Given the description of an element on the screen output the (x, y) to click on. 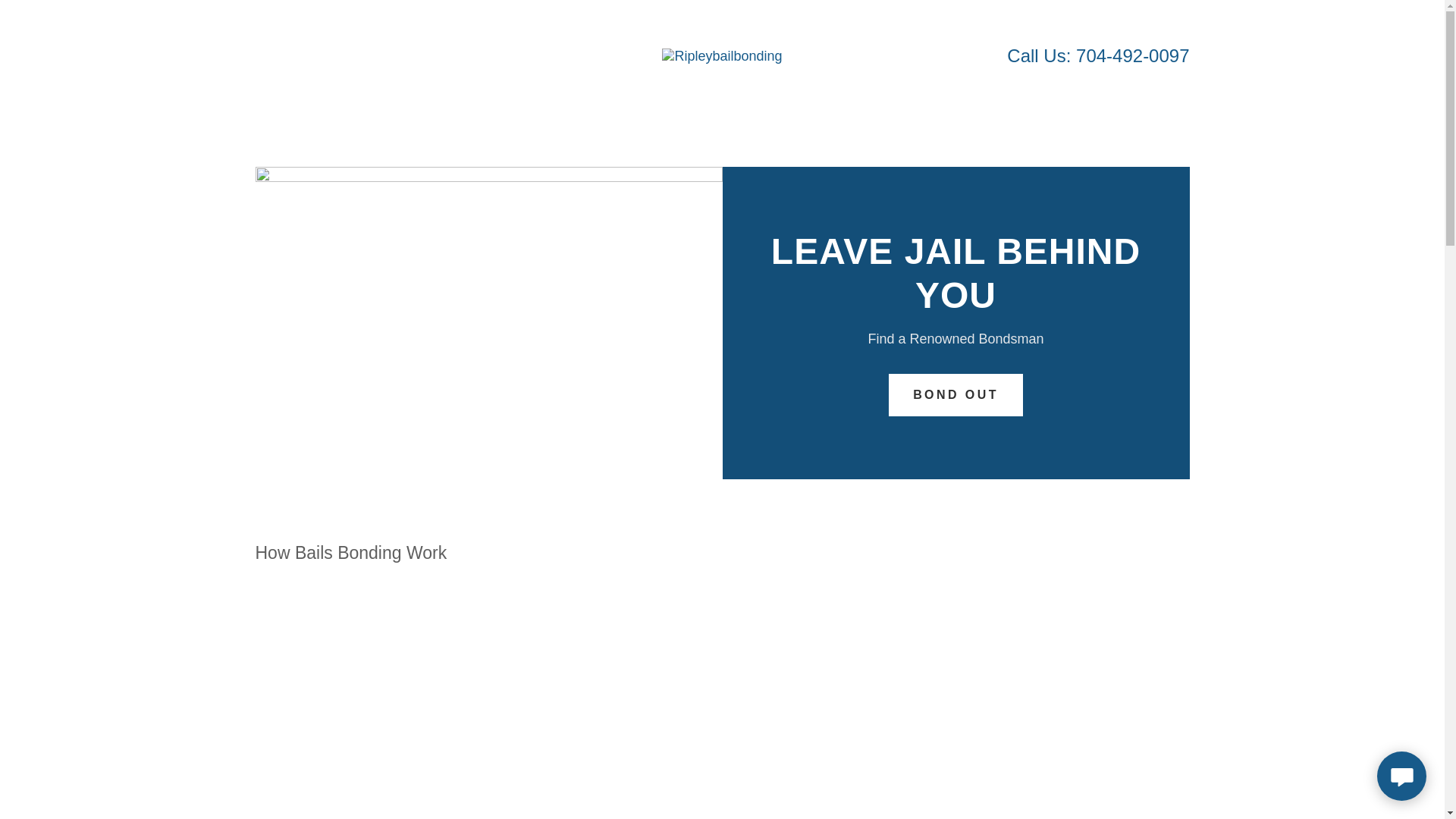
Ripleybailbonding (721, 55)
704-492-0097 (1132, 55)
BOND OUT (955, 394)
